Given the description of an element on the screen output the (x, y) to click on. 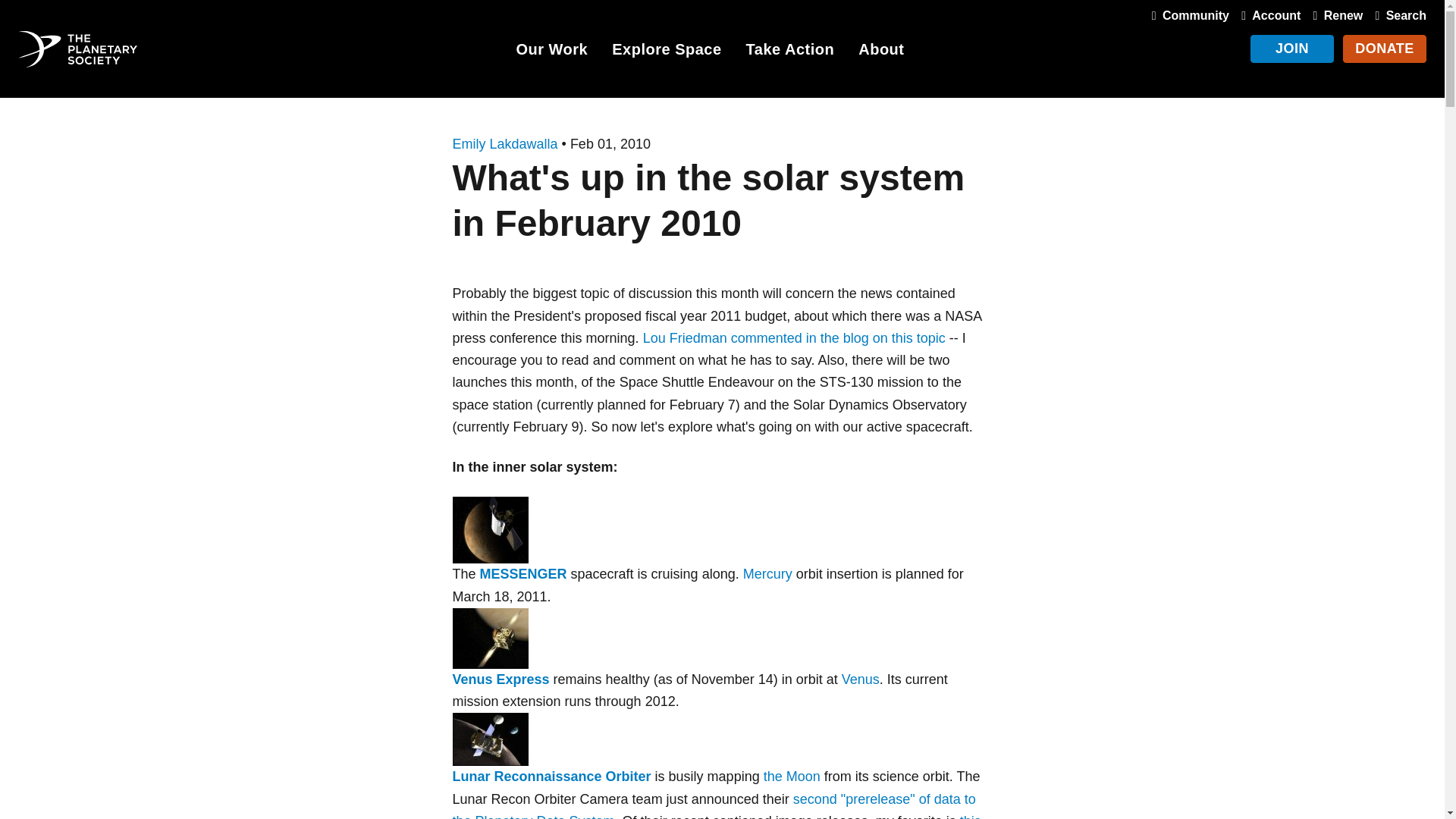
About (881, 51)
Renew (1334, 15)
Search (1397, 15)
Our Work (551, 51)
Account (1267, 15)
JOIN (1291, 49)
DONATE (1384, 49)
Community (1186, 15)
Explore Space (665, 51)
Take Action (789, 51)
